Given the description of an element on the screen output the (x, y) to click on. 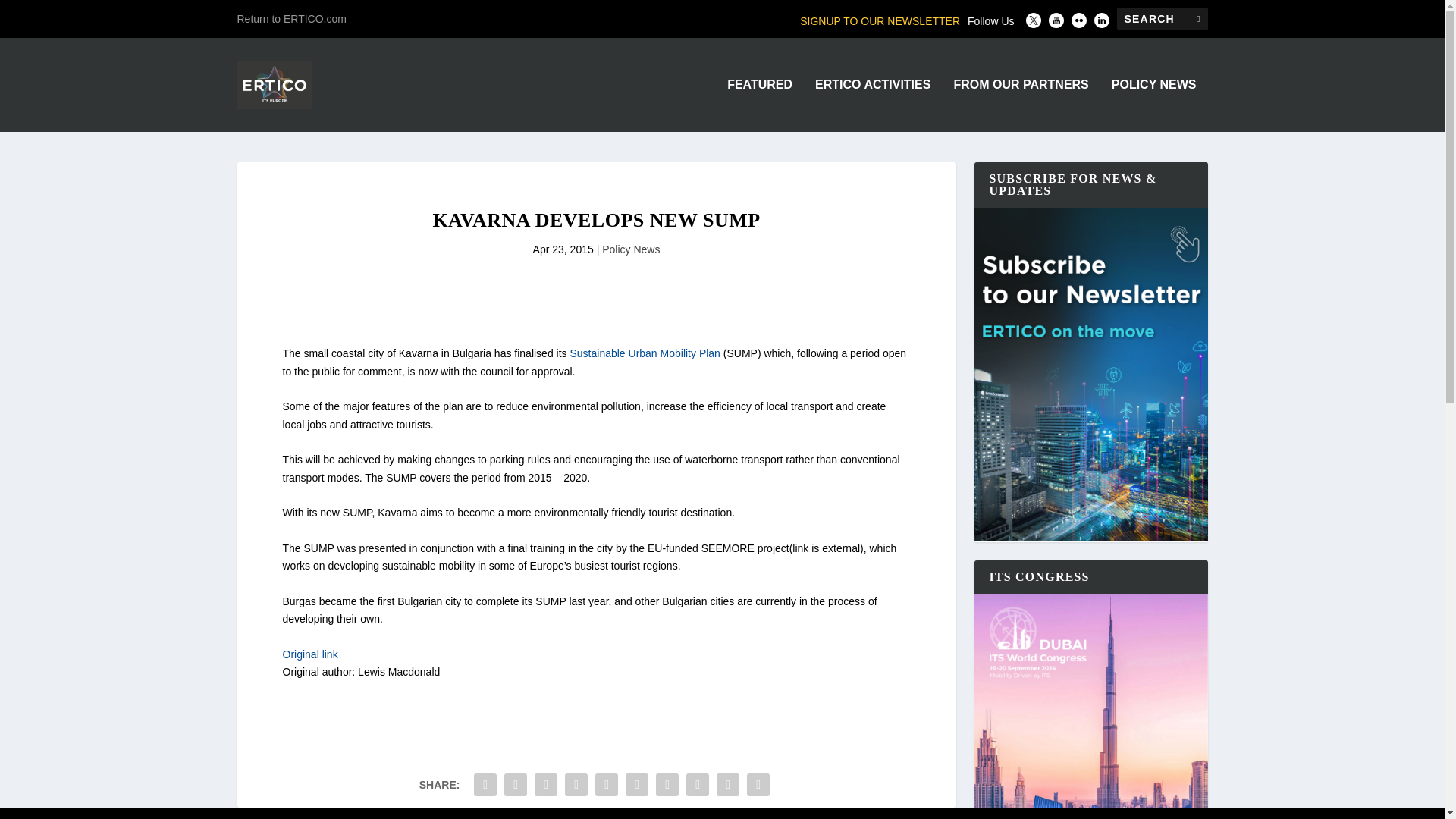
Share "Kavarna develops new SUMP" via Twitter (515, 784)
FEATURED (759, 104)
Share "Kavarna develops new SUMP" via Tumblr (575, 784)
Share "Kavarna develops new SUMP" via Stumbleupon (697, 784)
Search for: (1161, 18)
Sustainable Urban Mobility Plan (644, 353)
FROM OUR PARTNERS (1020, 104)
POLICY NEWS (1154, 104)
ERTICO ACTIVITIES (872, 104)
SIGNUP TO OUR NEWSLETTER (879, 21)
Policy News (630, 249)
Share "Kavarna develops new SUMP" via LinkedIn (636, 784)
Share "Kavarna develops new SUMP" via Email (727, 784)
Share "Kavarna develops new SUMP" via Pinterest (606, 784)
Original link (309, 653)
